Given the description of an element on the screen output the (x, y) to click on. 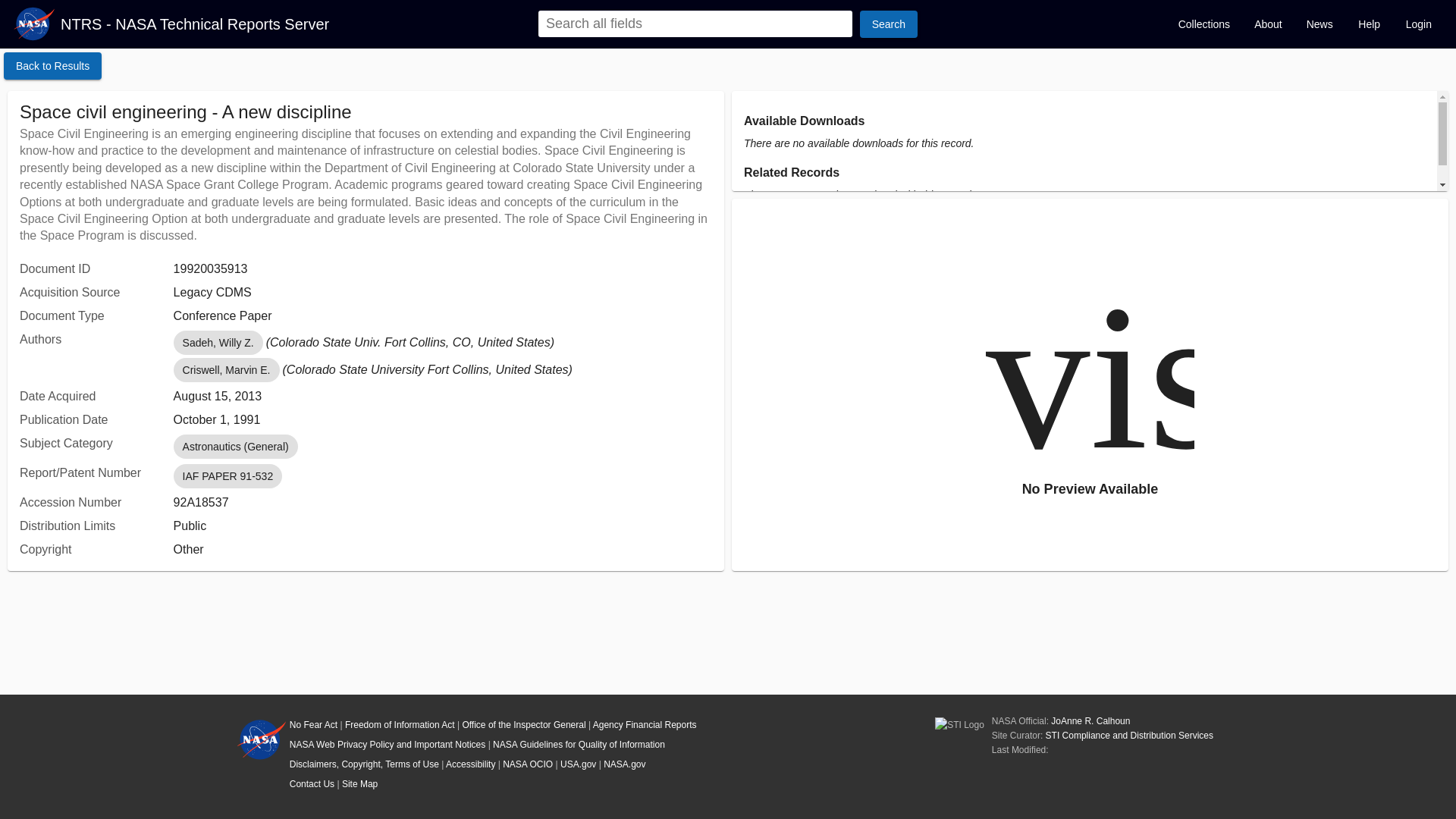
Accessibility (470, 764)
Login (1418, 23)
Agency Financial Reports (644, 724)
Site Map (359, 783)
Disclaimers, Copyright, Terms of Use (364, 764)
Search (888, 23)
Office of the Inspector General (523, 724)
USA.gov (577, 764)
No Fear Act (313, 724)
Back to Results (52, 65)
Contact Us (311, 783)
About (1267, 23)
Help (1369, 23)
Collections (1203, 23)
News (1319, 23)
